Given the description of an element on the screen output the (x, y) to click on. 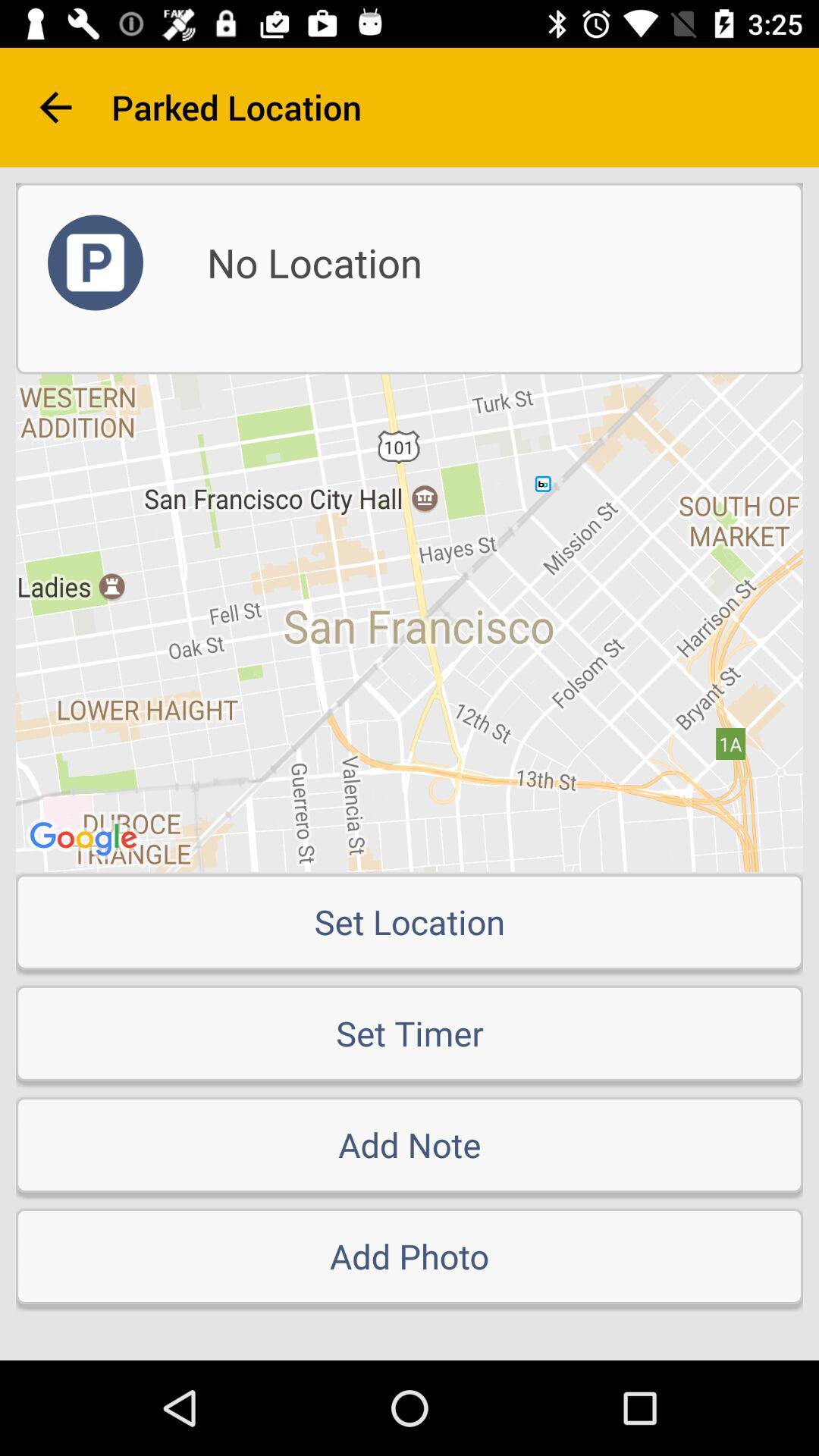
click the set timer item (409, 1033)
